Given the description of an element on the screen output the (x, y) to click on. 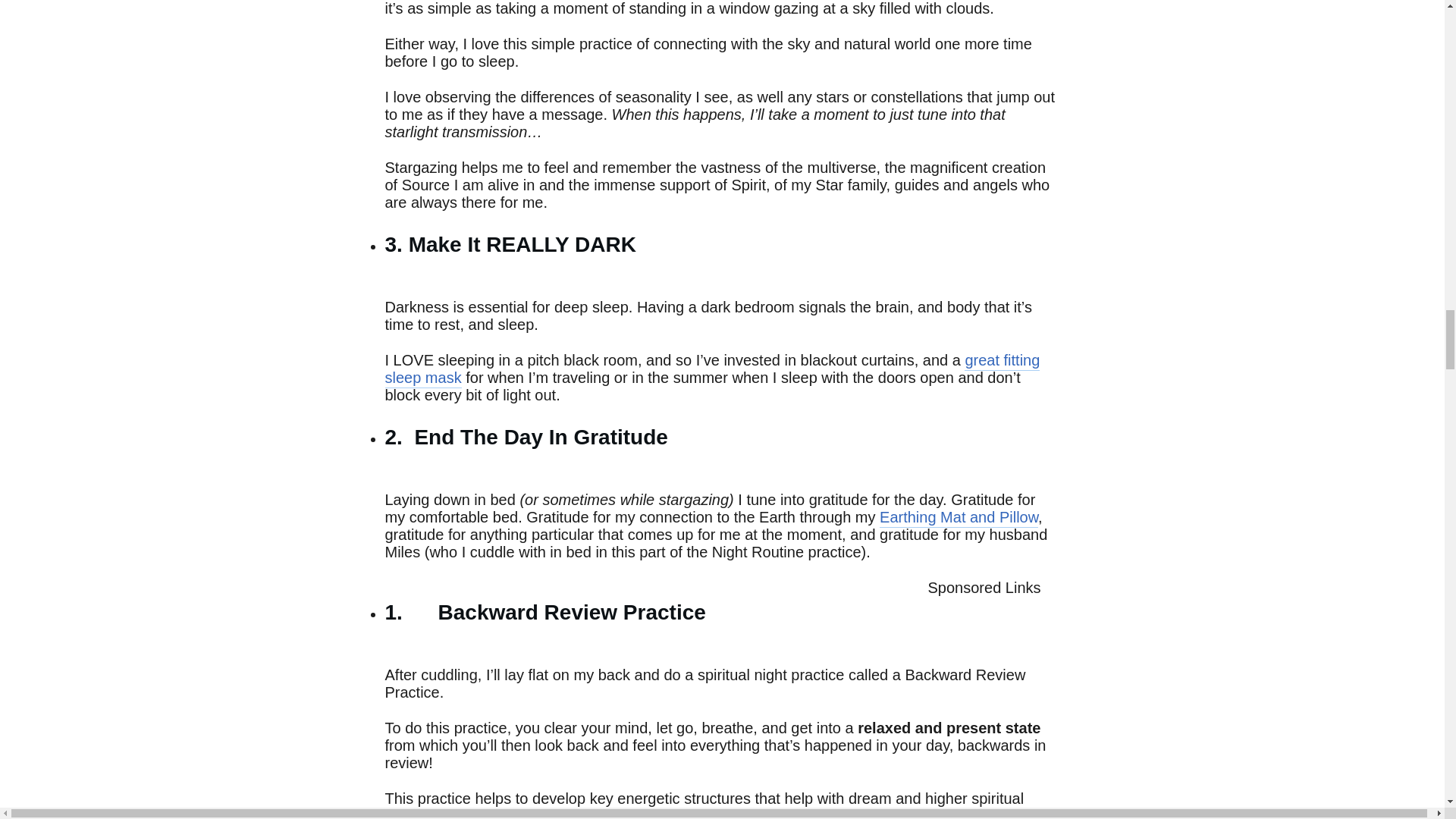
Earthing Mat and Pillow (958, 517)
great fitting sleep mask (713, 370)
